Given the description of an element on the screen output the (x, y) to click on. 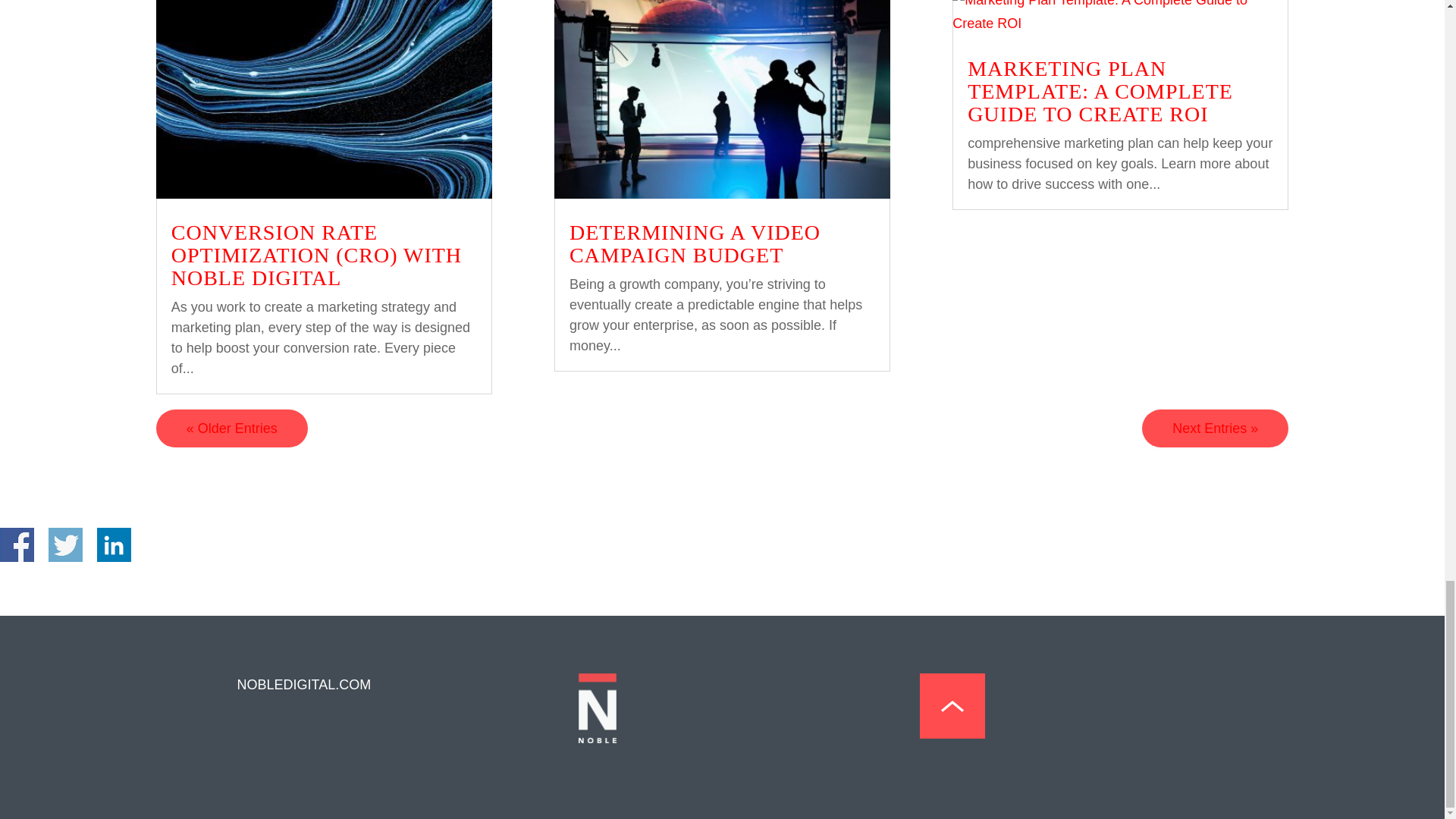
Share on Facebook (16, 544)
Share on Linkedin (114, 544)
Noble Digital (596, 738)
Share on Twitter (65, 544)
NOBLEDIGITAL.COM (303, 684)
MARKETING PLAN TEMPLATE: A COMPLETE GUIDE TO CREATE ROI (1100, 91)
DETERMINING A VIDEO CAMPAIGN BUDGET (695, 243)
